Given the description of an element on the screen output the (x, y) to click on. 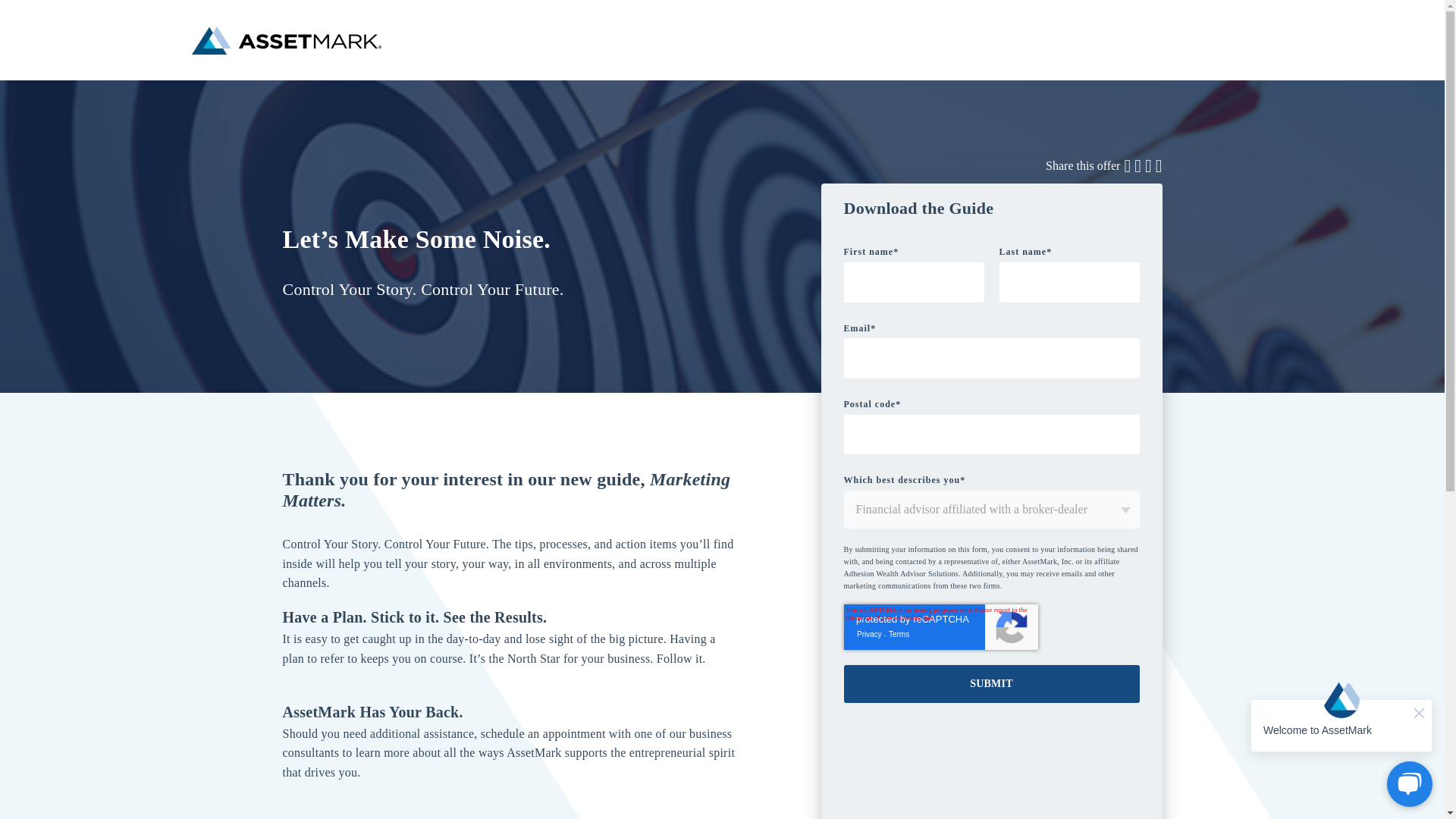
assetmark-logo (285, 40)
Submit (990, 683)
reCAPTCHA (939, 627)
Submit (990, 683)
